Given the description of an element on the screen output the (x, y) to click on. 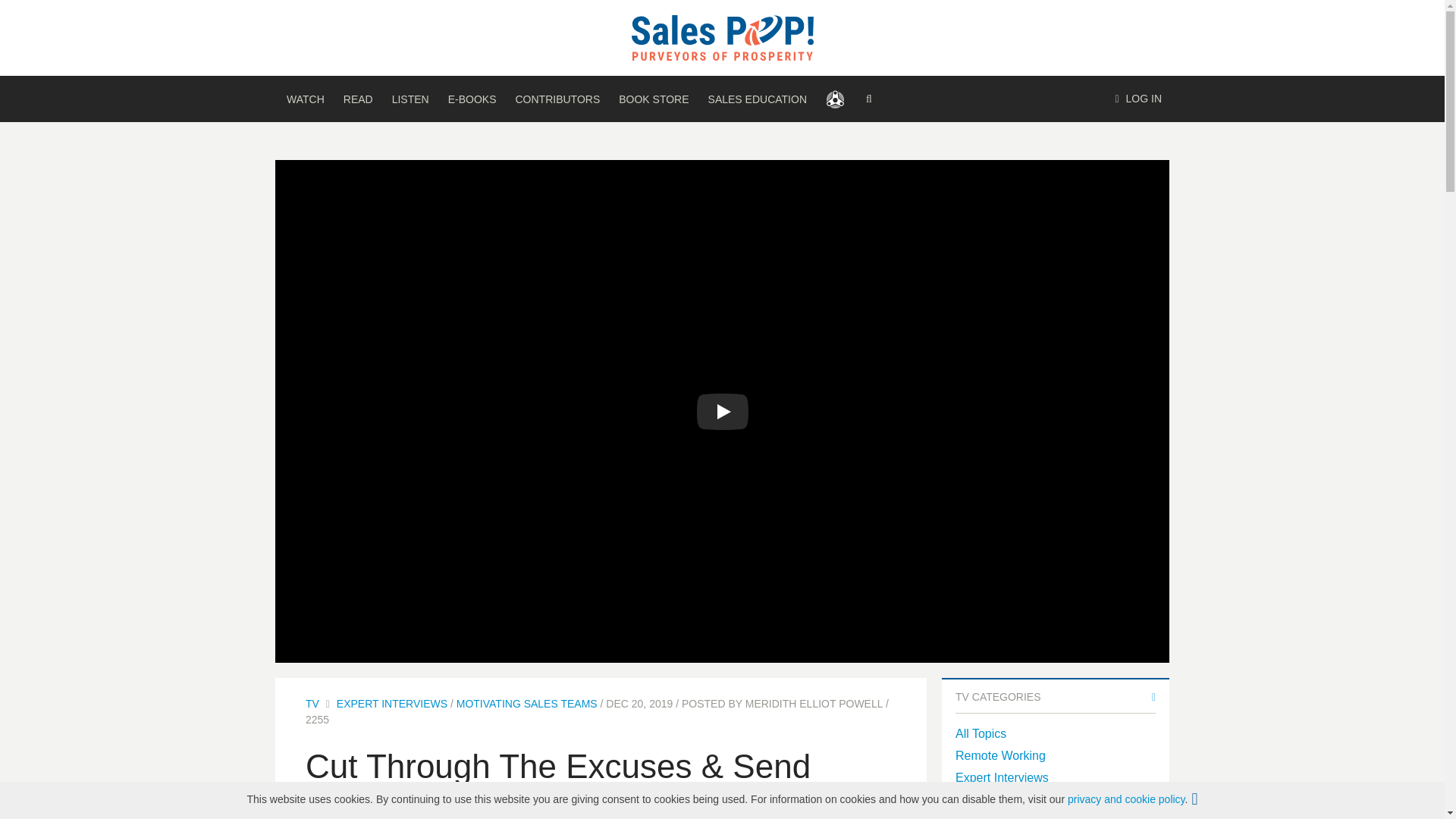
LISTEN (410, 99)
TV (311, 703)
BOOK STORE (653, 99)
MERIDITH ELLIOT POWELL (813, 703)
READ (358, 99)
LOG IN (1138, 99)
SALES EDUCATION (756, 99)
Play (721, 411)
E-BOOKS (472, 99)
EXPERT INTERVIEWS (391, 703)
WATCH (305, 99)
CONTRIBUTORS (556, 99)
MOTIVATING SALES TEAMS (526, 703)
